Given the description of an element on the screen output the (x, y) to click on. 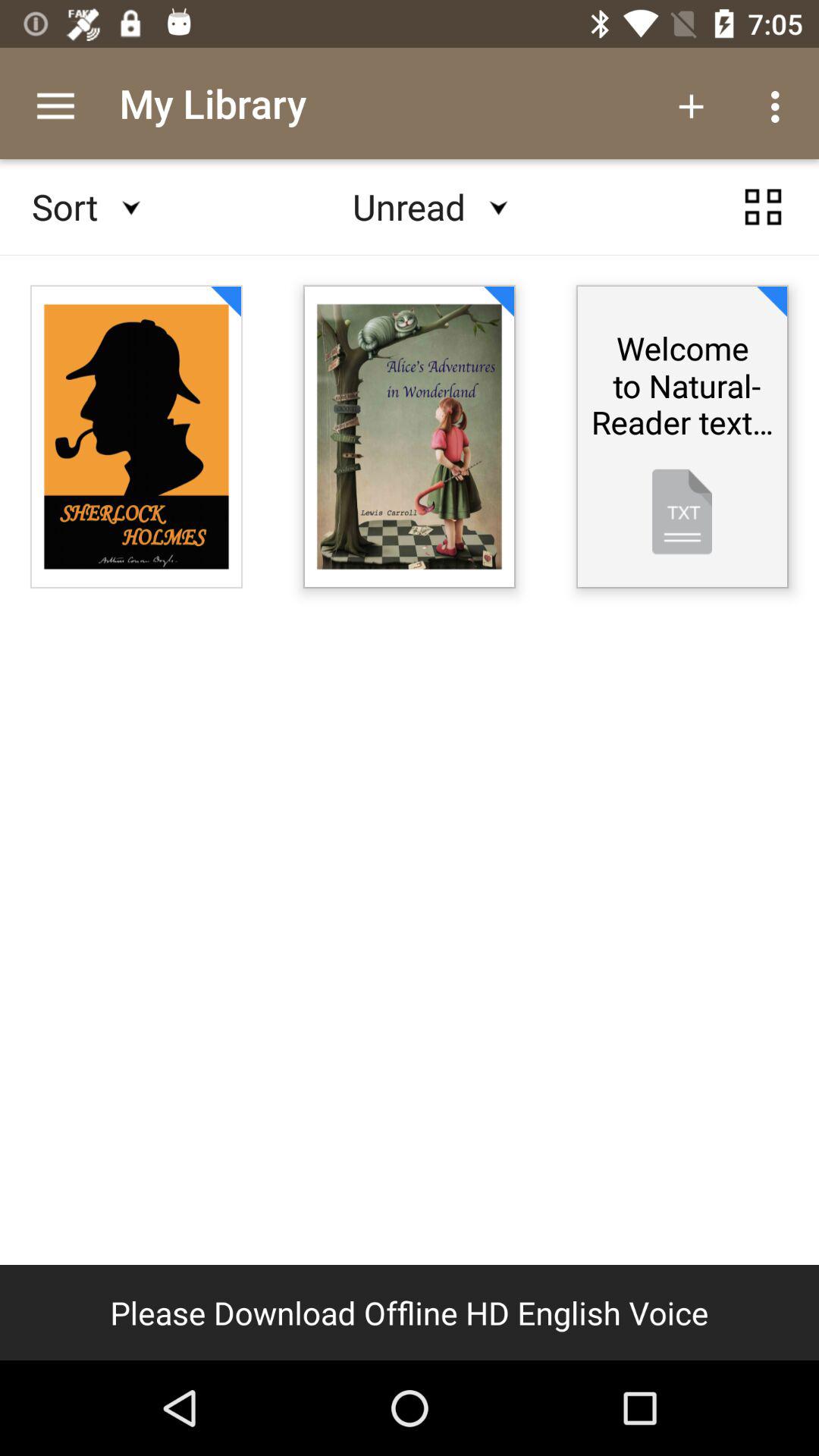
go to save (763, 206)
